Given the description of an element on the screen output the (x, y) to click on. 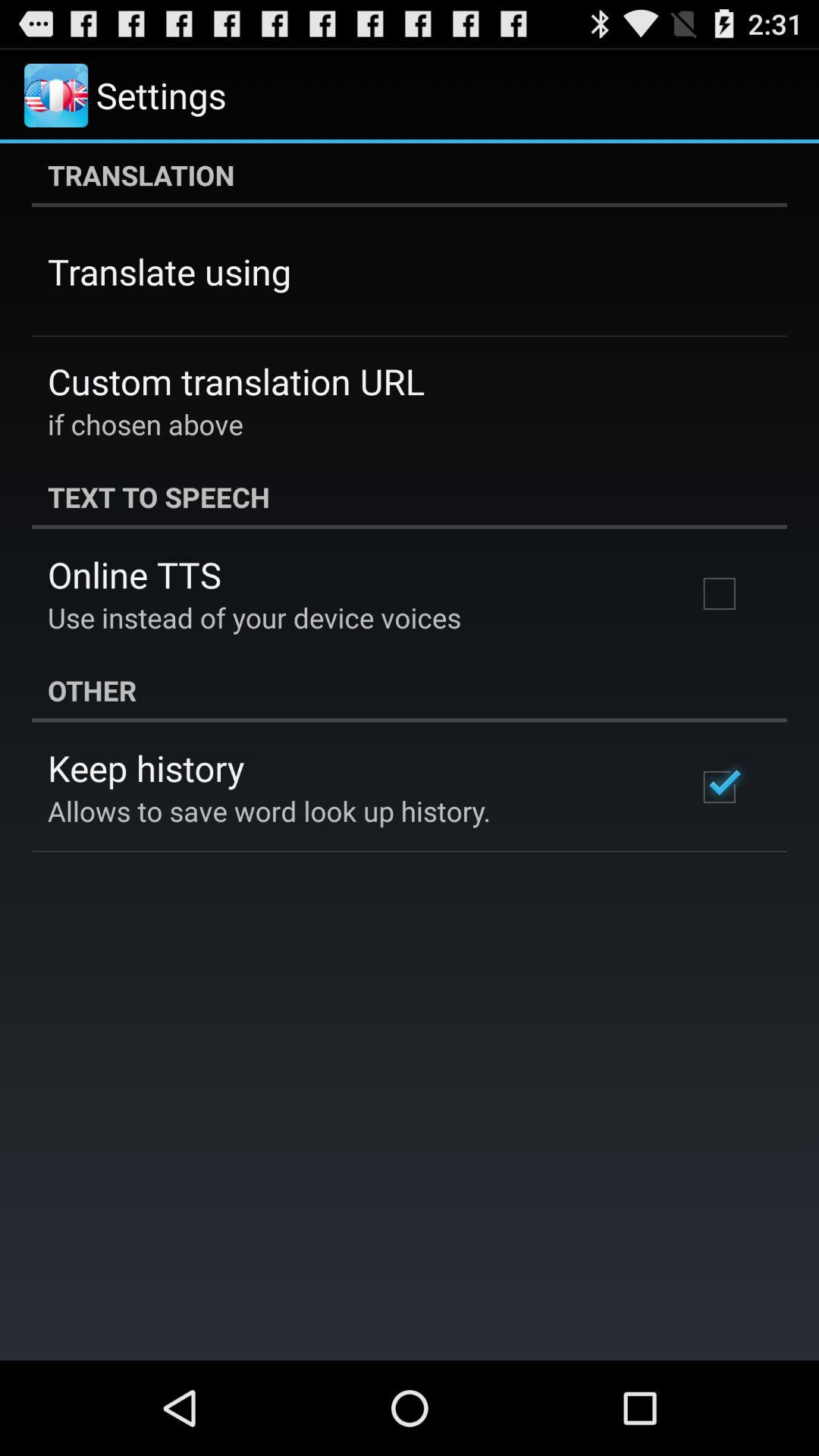
launch other item (409, 690)
